Given the description of an element on the screen output the (x, y) to click on. 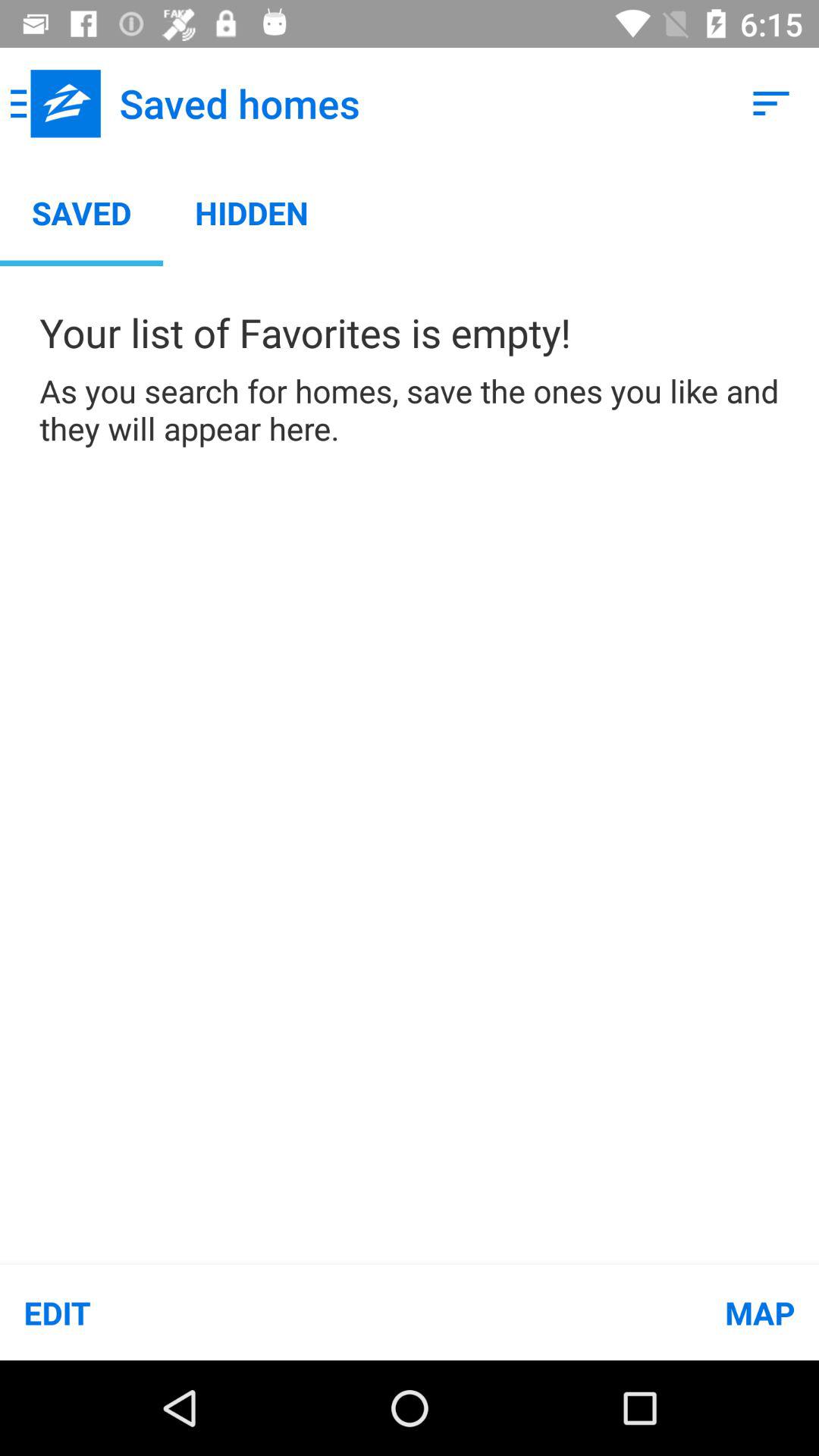
launch icon at the bottom right corner (614, 1312)
